Given the description of an element on the screen output the (x, y) to click on. 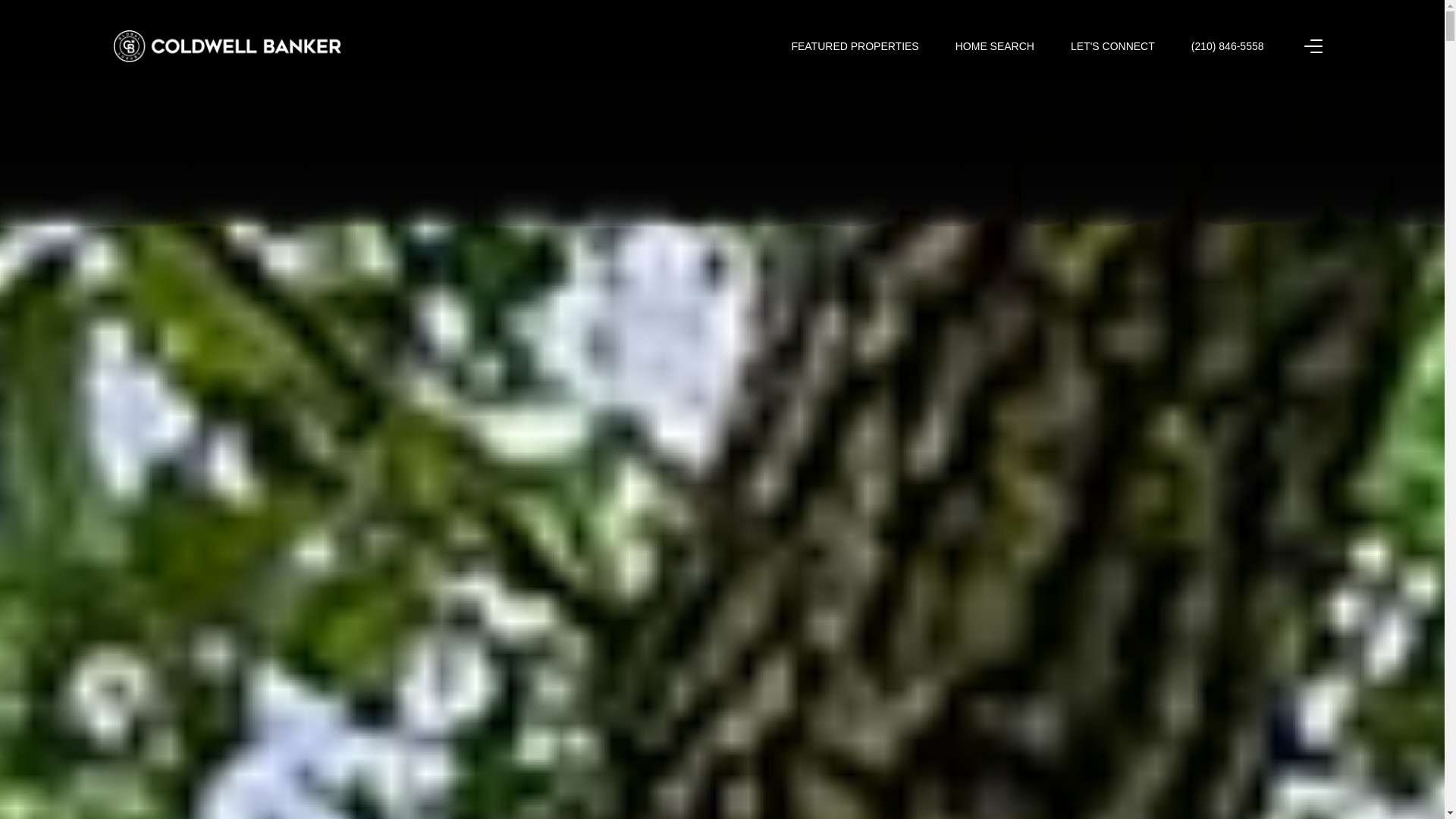
FEATURED PROPERTIES (854, 46)
LET'S CONNECT (1112, 46)
HOME SEARCH (994, 46)
